Given the description of an element on the screen output the (x, y) to click on. 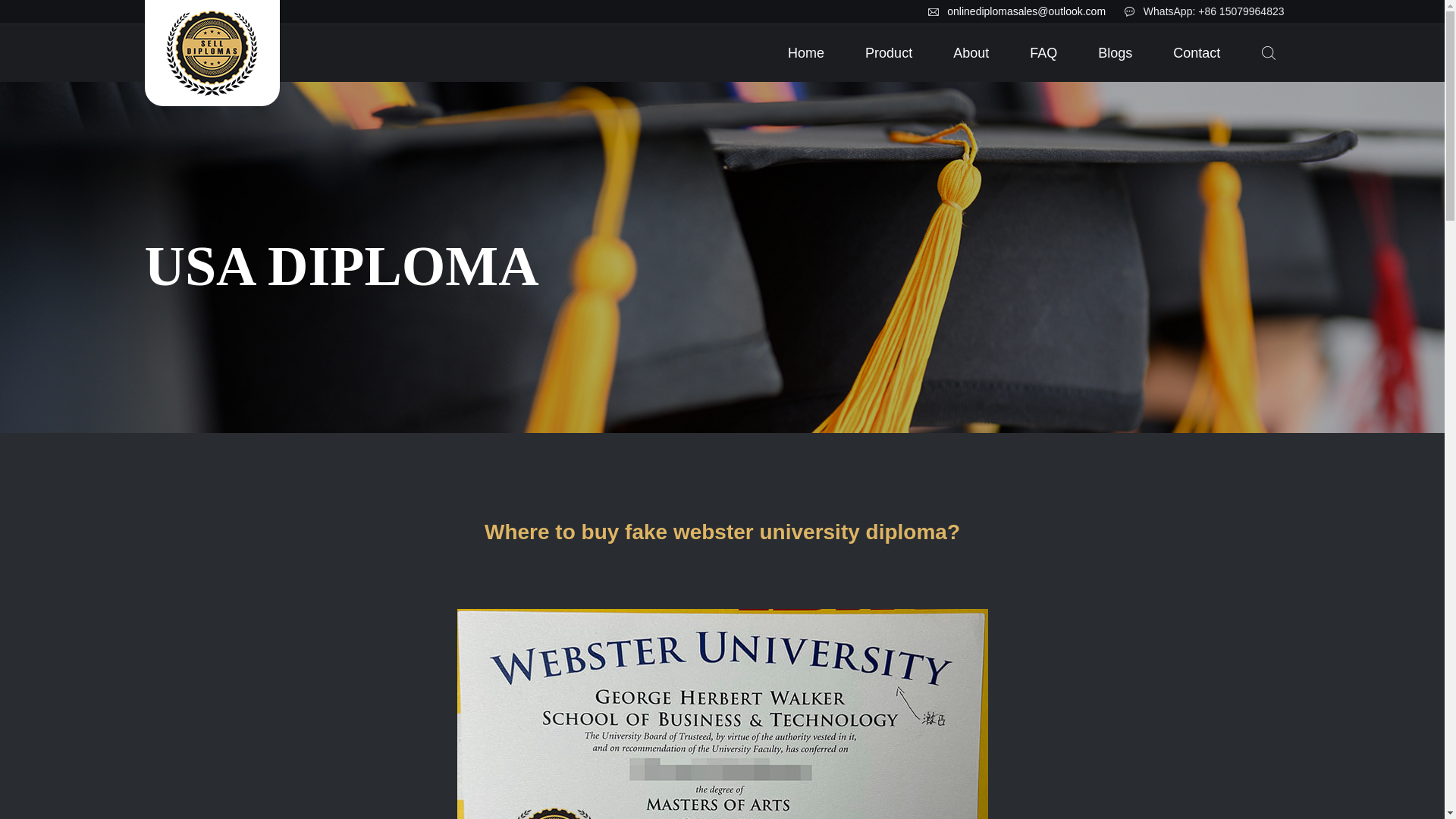
Blogs (1114, 52)
Product (888, 52)
FAQ (1043, 52)
Home (806, 52)
About (971, 52)
Contact (1195, 52)
